Given the description of an element on the screen output the (x, y) to click on. 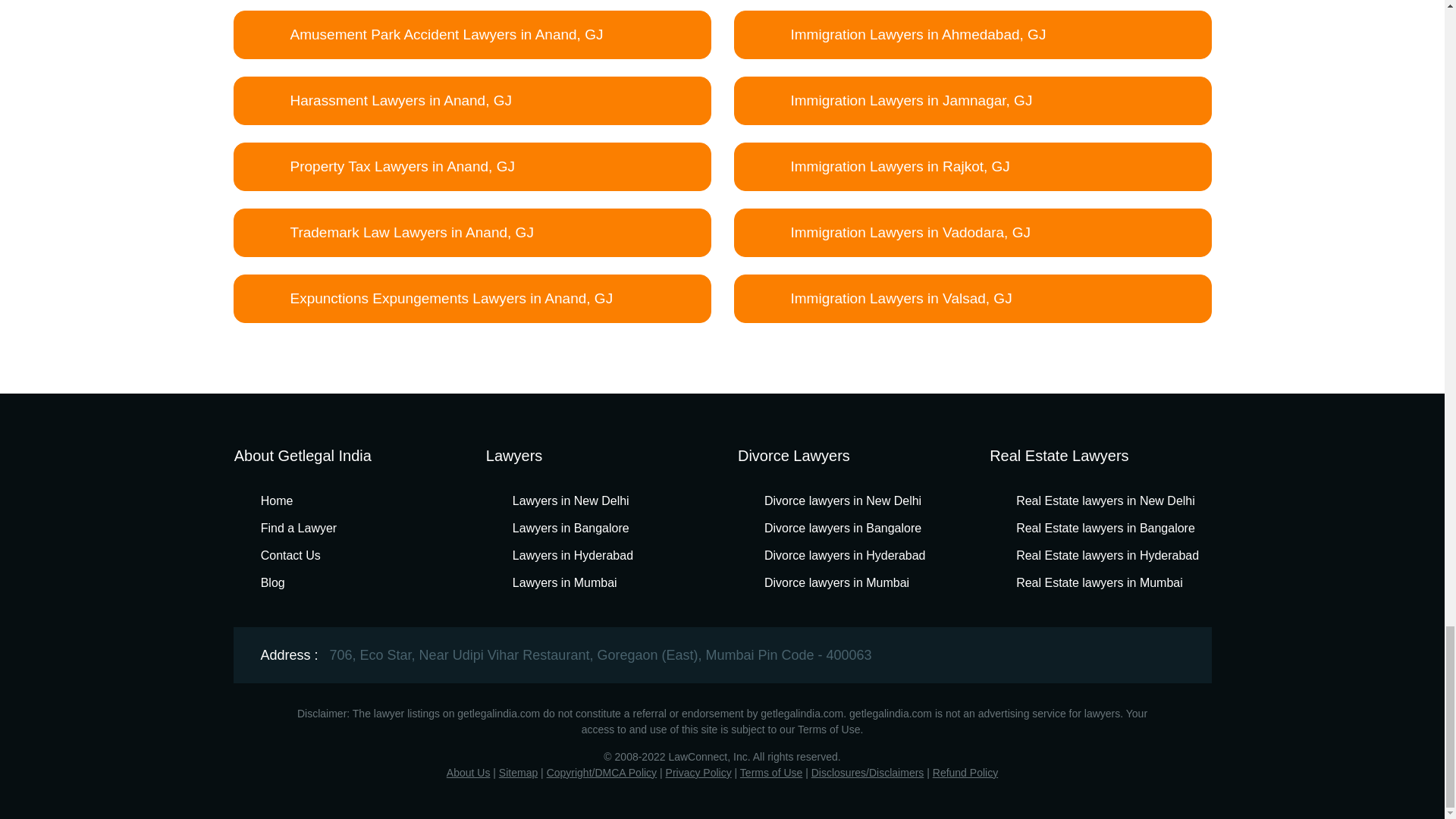
Immigration Lawyers in Valsad, GJ (972, 298)
Lawyers in Hyderabad (563, 554)
Lawyers in Mumbai (555, 582)
Expunctions Expungements Lawyers in Anand, GJ (471, 298)
Blog (263, 582)
Divorce lawyers in Bangalore (833, 527)
Divorce lawyers in Hyderabad (835, 554)
Divorce lawyers in New Delhi (833, 500)
About Us (468, 772)
Real Estate lawyers in Bangalore (1096, 527)
